Given the description of an element on the screen output the (x, y) to click on. 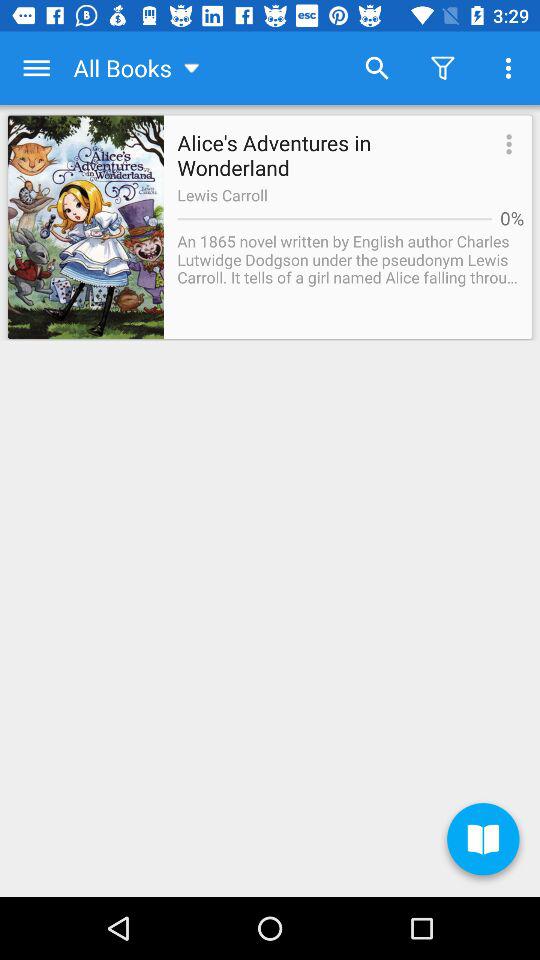
choose all books app (137, 67)
